Given the description of an element on the screen output the (x, y) to click on. 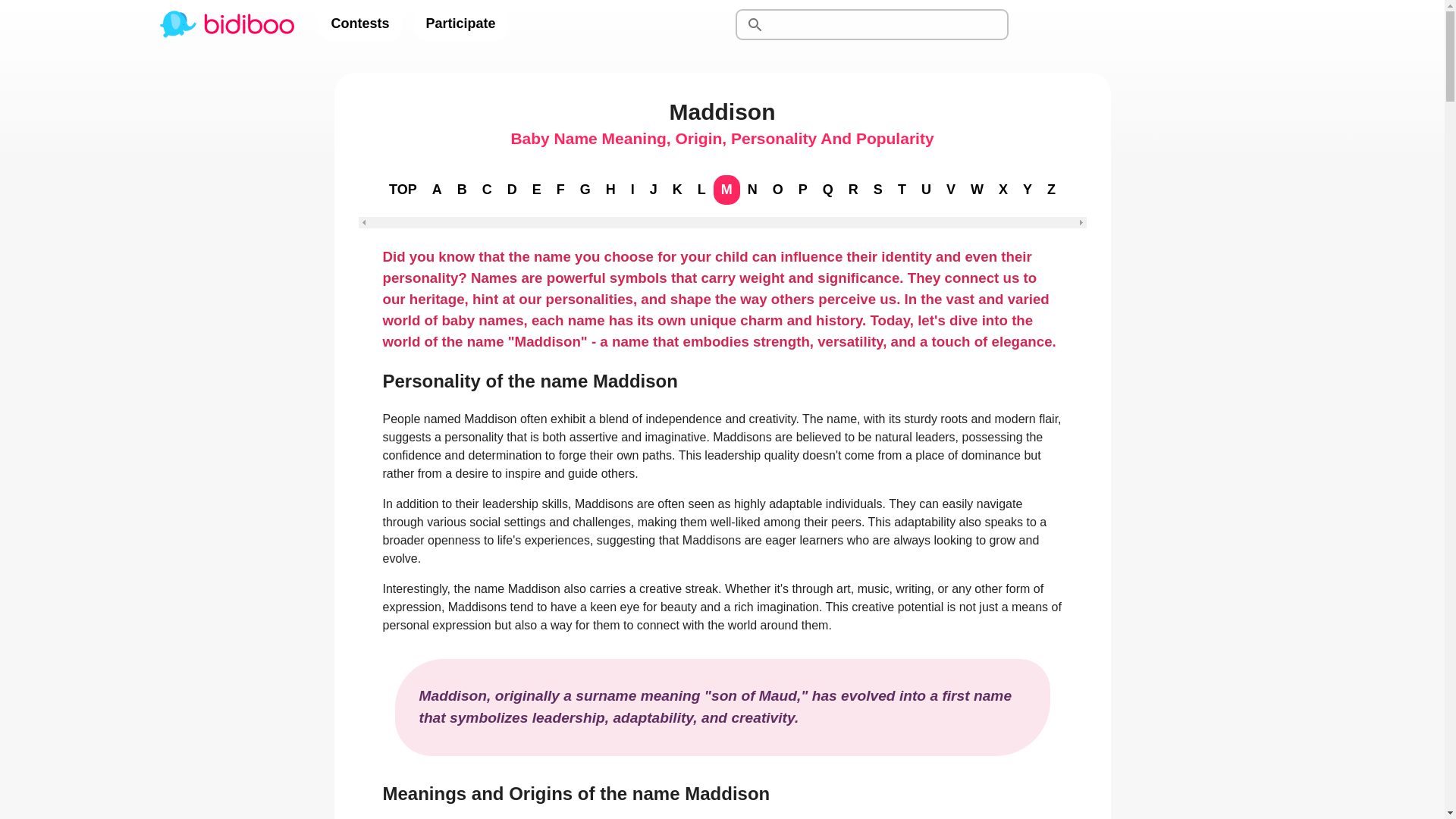
Bidiboo Baby Photo Contest (225, 24)
W (976, 189)
Participate (460, 23)
Contests (359, 23)
TOP (403, 189)
